Given the description of an element on the screen output the (x, y) to click on. 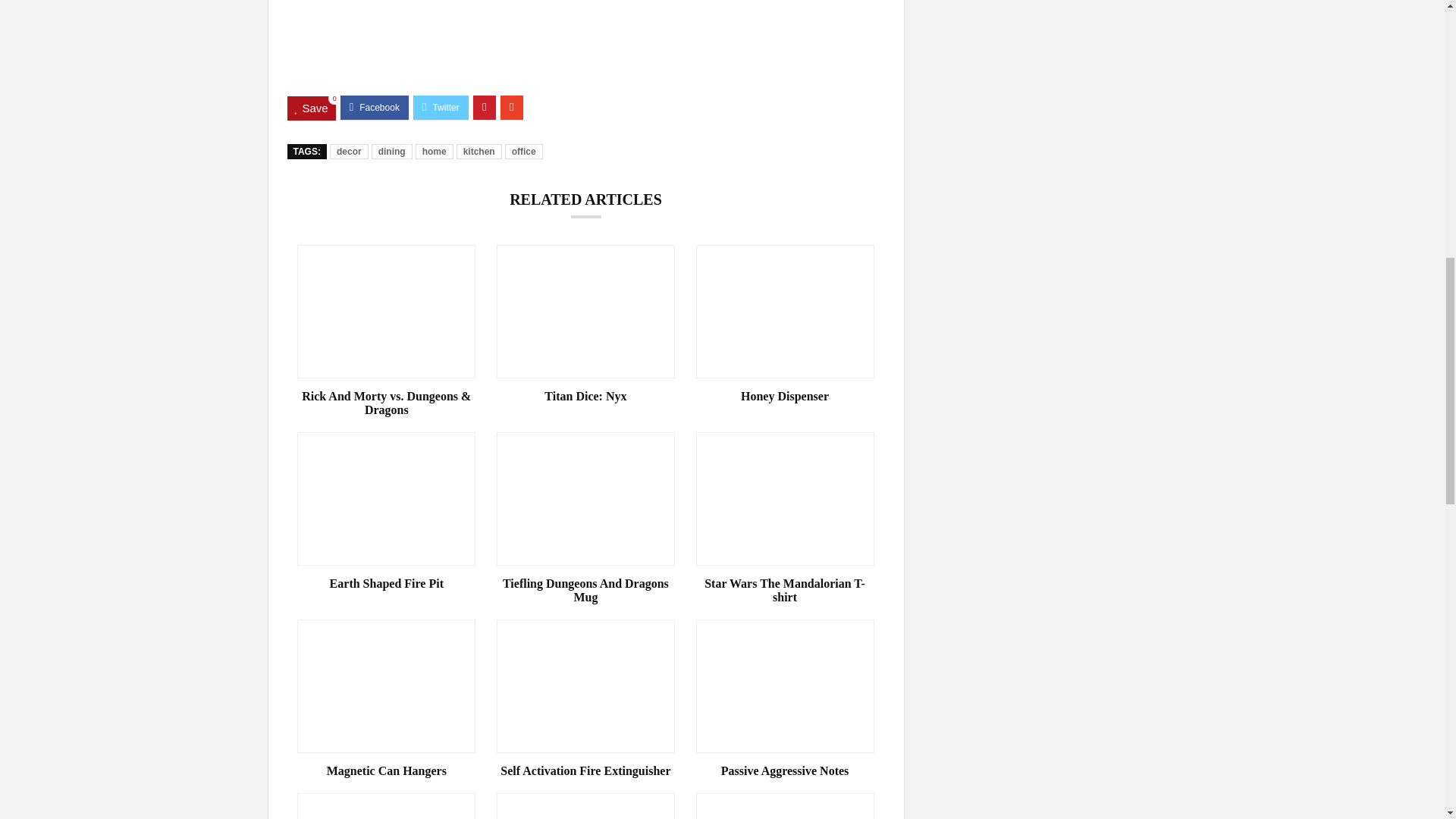
Passive Aggressive Notes (785, 771)
Honey Dispenser (785, 396)
Titan Dice: Nyx (585, 396)
Honey Dispenser (785, 396)
Earth Shaped Fire Pit (386, 583)
home (433, 151)
office (524, 151)
dining (391, 151)
kitchen (479, 151)
Star Wars The Mandalorian T-shirt (785, 590)
